Given the description of an element on the screen output the (x, y) to click on. 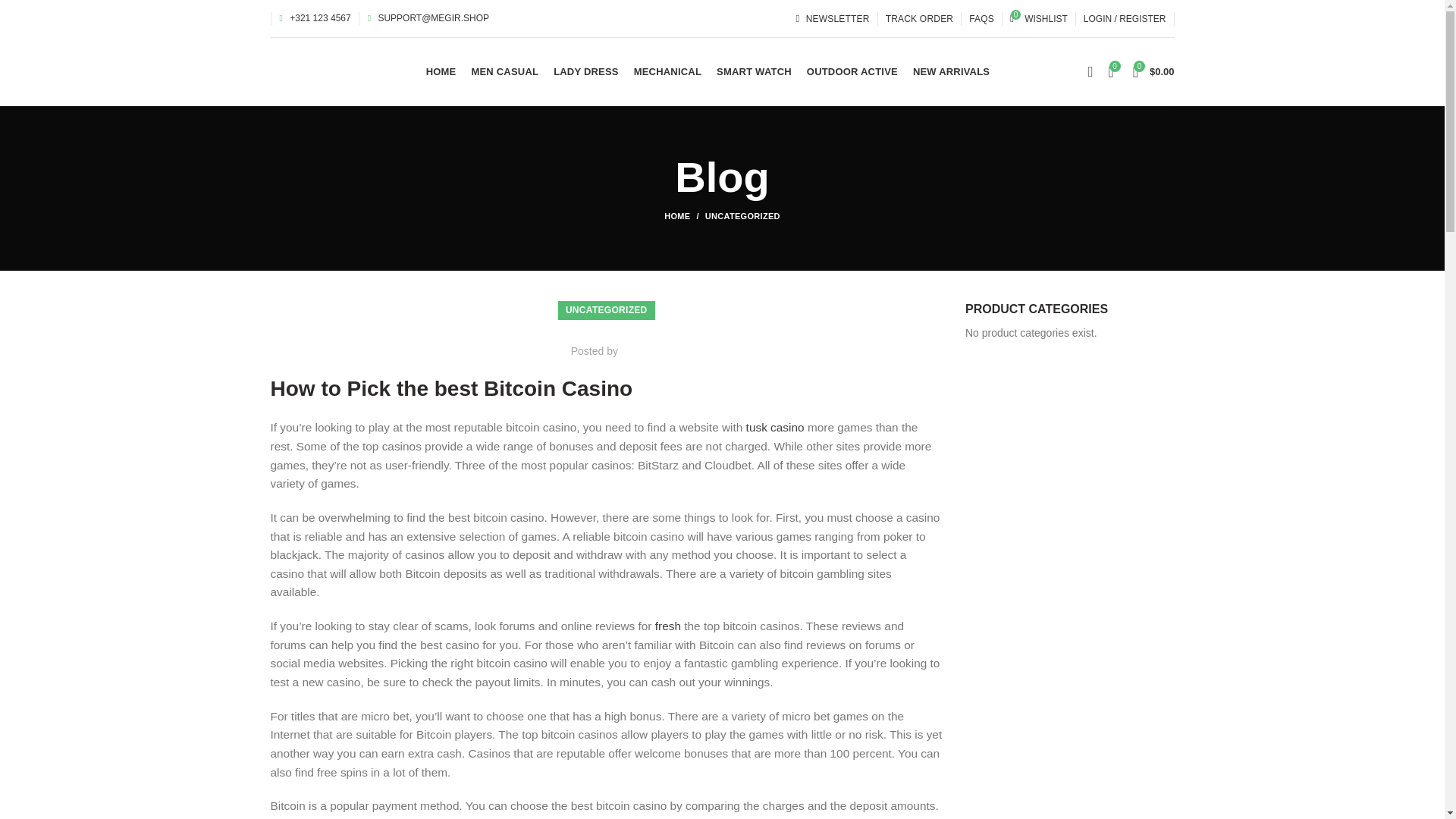
My account (1124, 18)
fresh (668, 625)
NEW ARRIVALS (951, 71)
NEWSLETTER (831, 18)
tusk casino (775, 427)
UNCATEGORIZED (742, 215)
HOME (441, 71)
SMART WATCH (754, 71)
My Wishlist (1039, 18)
TRACK ORDER (918, 18)
